Given the description of an element on the screen output the (x, y) to click on. 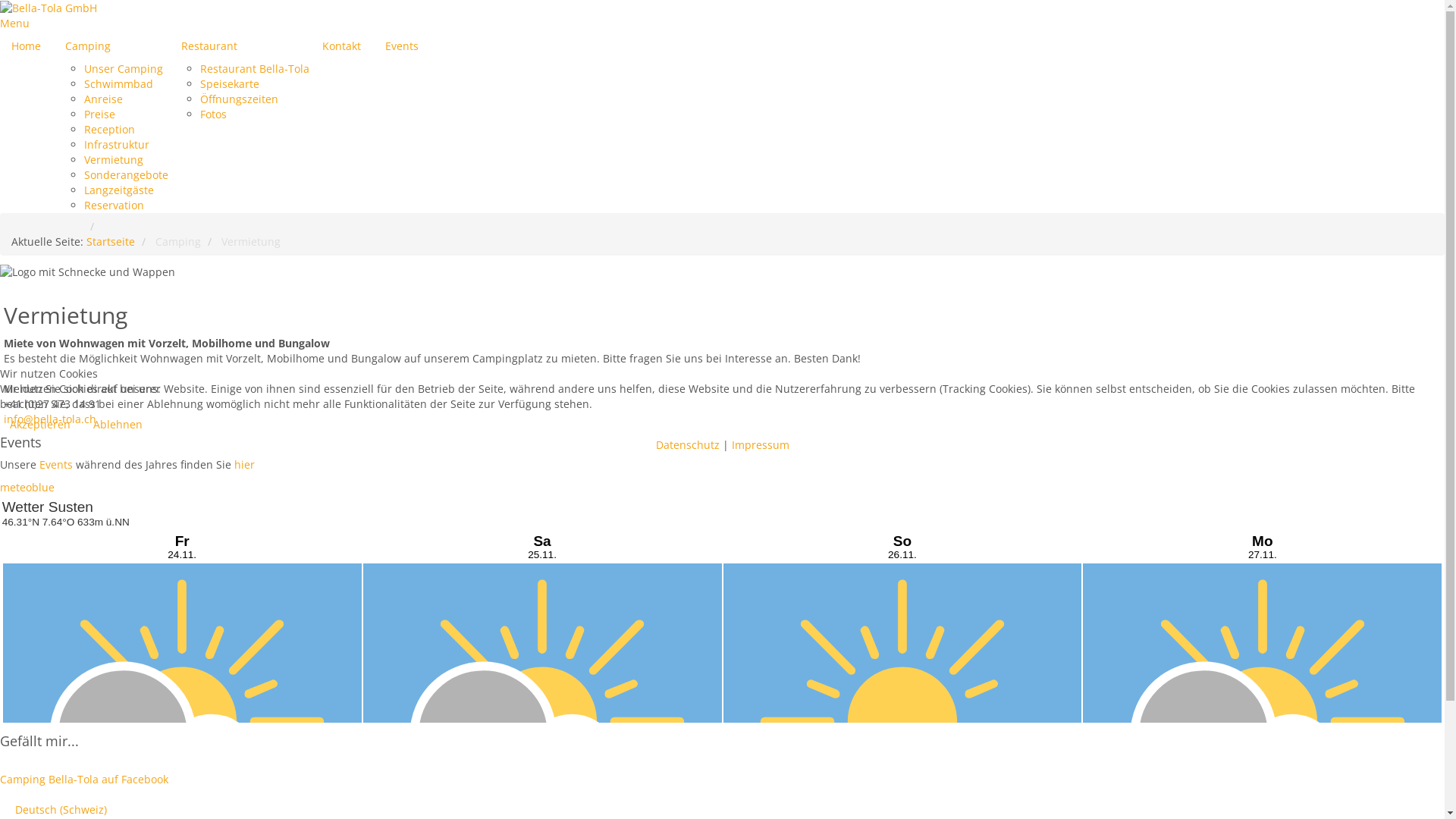
Camping Bella-Tola auf Facebook Element type: text (84, 778)
Events Element type: text (401, 46)
Restaurant Bella-Tola Element type: text (254, 68)
Impressum Element type: text (759, 444)
Preise Element type: text (99, 113)
hier Element type: text (244, 464)
meteoblue Element type: text (27, 487)
Datenschutz Element type: text (686, 444)
Kontakt Element type: text (341, 46)
Infrastruktur Element type: text (116, 144)
Events Element type: text (57, 464)
Home Element type: text (26, 46)
Speisekarte Element type: text (229, 83)
Restaurant Element type: text (239, 46)
Menu Element type: text (14, 22)
Startseite Element type: text (110, 241)
info@bella-tola.ch Element type: text (49, 418)
Reservation Element type: text (114, 204)
Fotos Element type: text (213, 113)
Schwimmbad Element type: text (118, 83)
Ablehnen Element type: text (117, 424)
Akzeptieren Element type: text (40, 424)
Vermietung Element type: text (113, 159)
Anreise Element type: text (103, 98)
Unser Camping Element type: text (123, 68)
Sonderangebote Element type: text (126, 174)
Reception Element type: text (109, 129)
Camping Element type: text (110, 46)
